Given the description of an element on the screen output the (x, y) to click on. 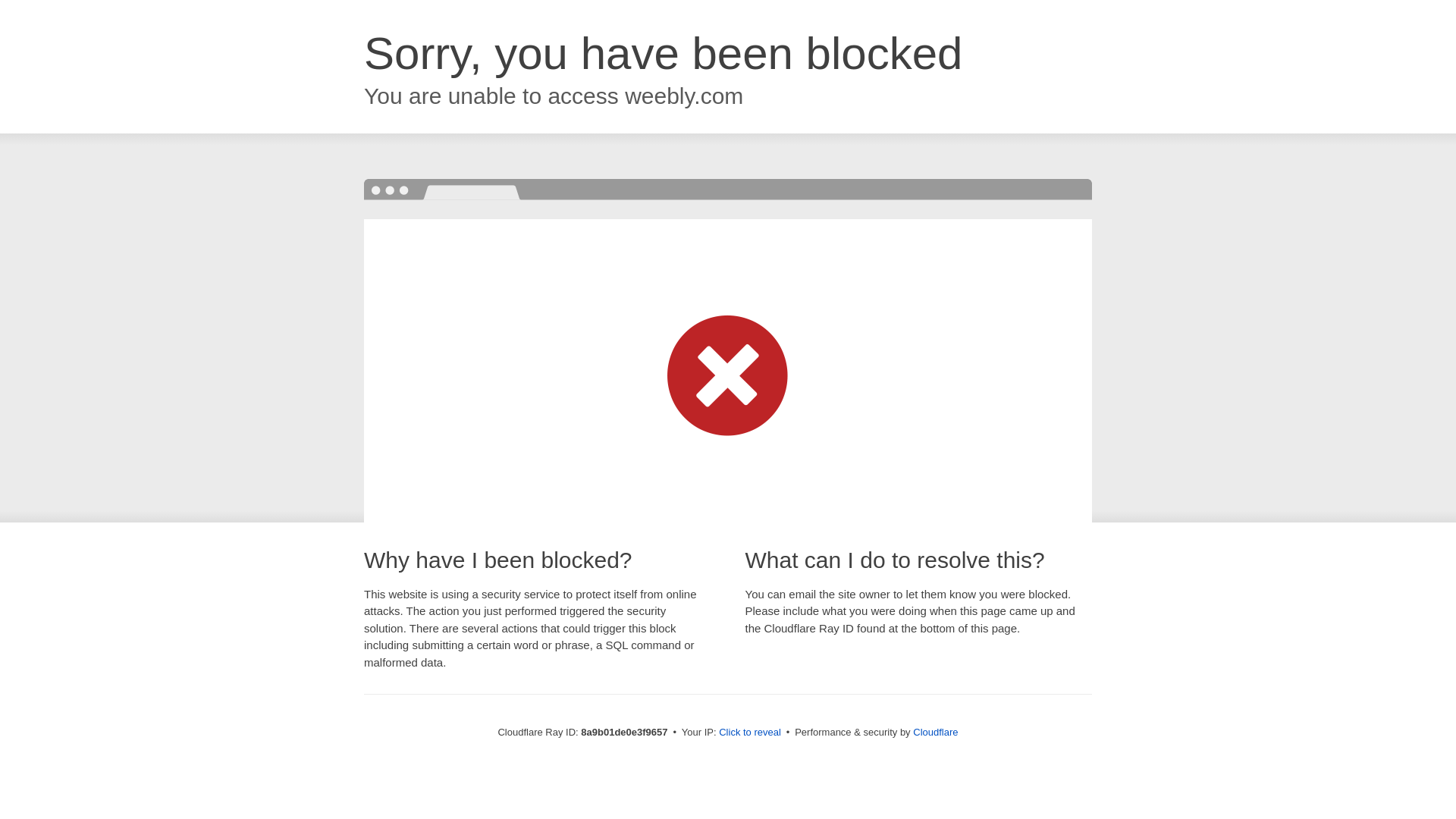
Cloudflare (935, 731)
Click to reveal (749, 732)
